Given the description of an element on the screen output the (x, y) to click on. 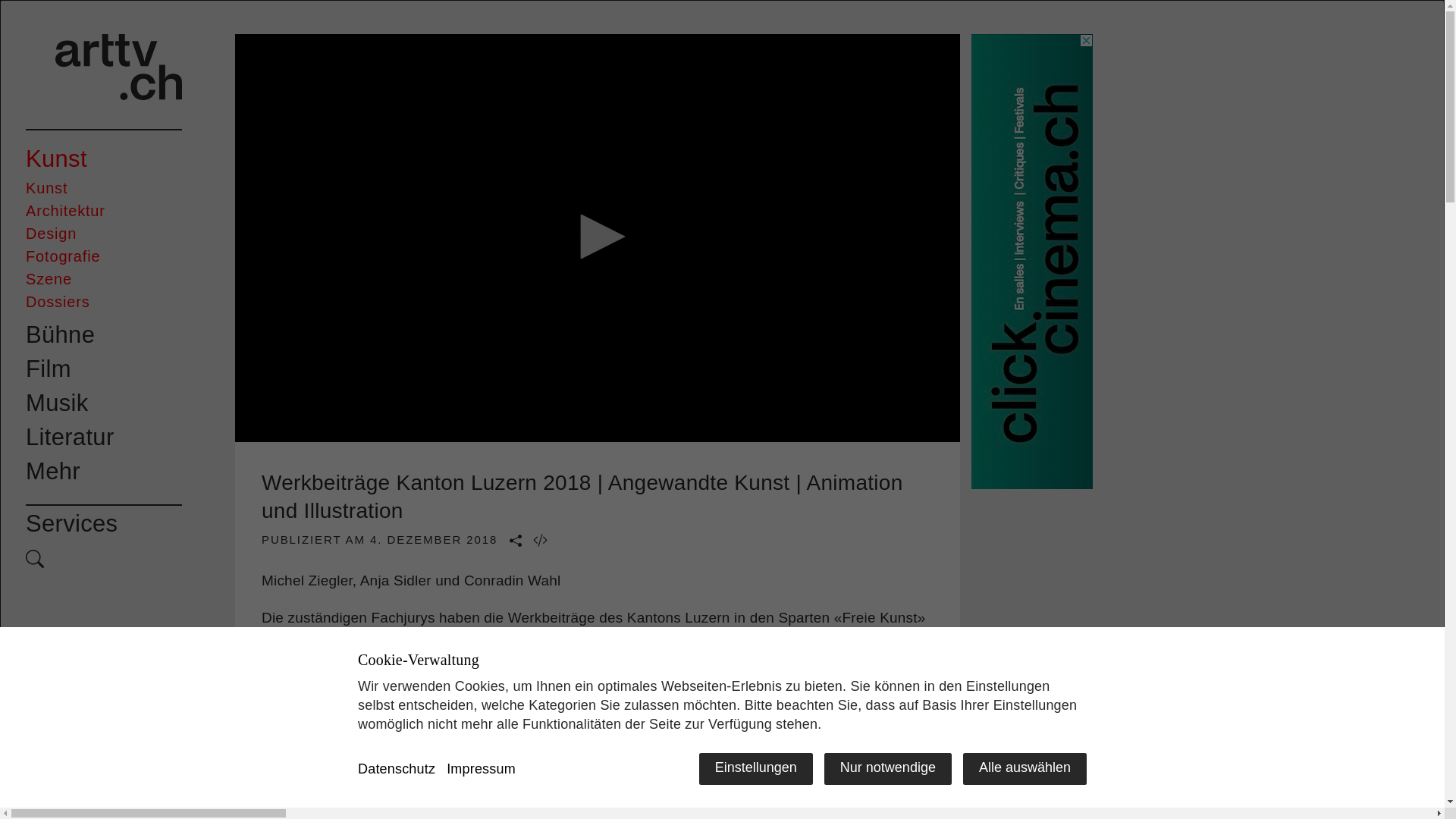
Dossiers Element type: text (103, 301)
Nur notwendige Element type: text (887, 768)
Services Element type: text (103, 524)
Szene Element type: text (103, 278)
Mehr lesen Element type: text (597, 708)
Datenschutz Element type: text (396, 769)
Kunst Element type: text (103, 159)
3rd party ad content Element type: hover (1031, 261)
Architektur Element type: text (103, 210)
Kunst Element type: text (103, 187)
Fotografie Element type: text (103, 255)
Musik Element type: text (103, 403)
Film Element type: text (103, 369)
Mehr Element type: text (103, 472)
Literatur Element type: text (103, 437)
Einstellungen Element type: text (755, 768)
Impressum Element type: text (480, 769)
Design Element type: text (103, 233)
